Given the description of an element on the screen output the (x, y) to click on. 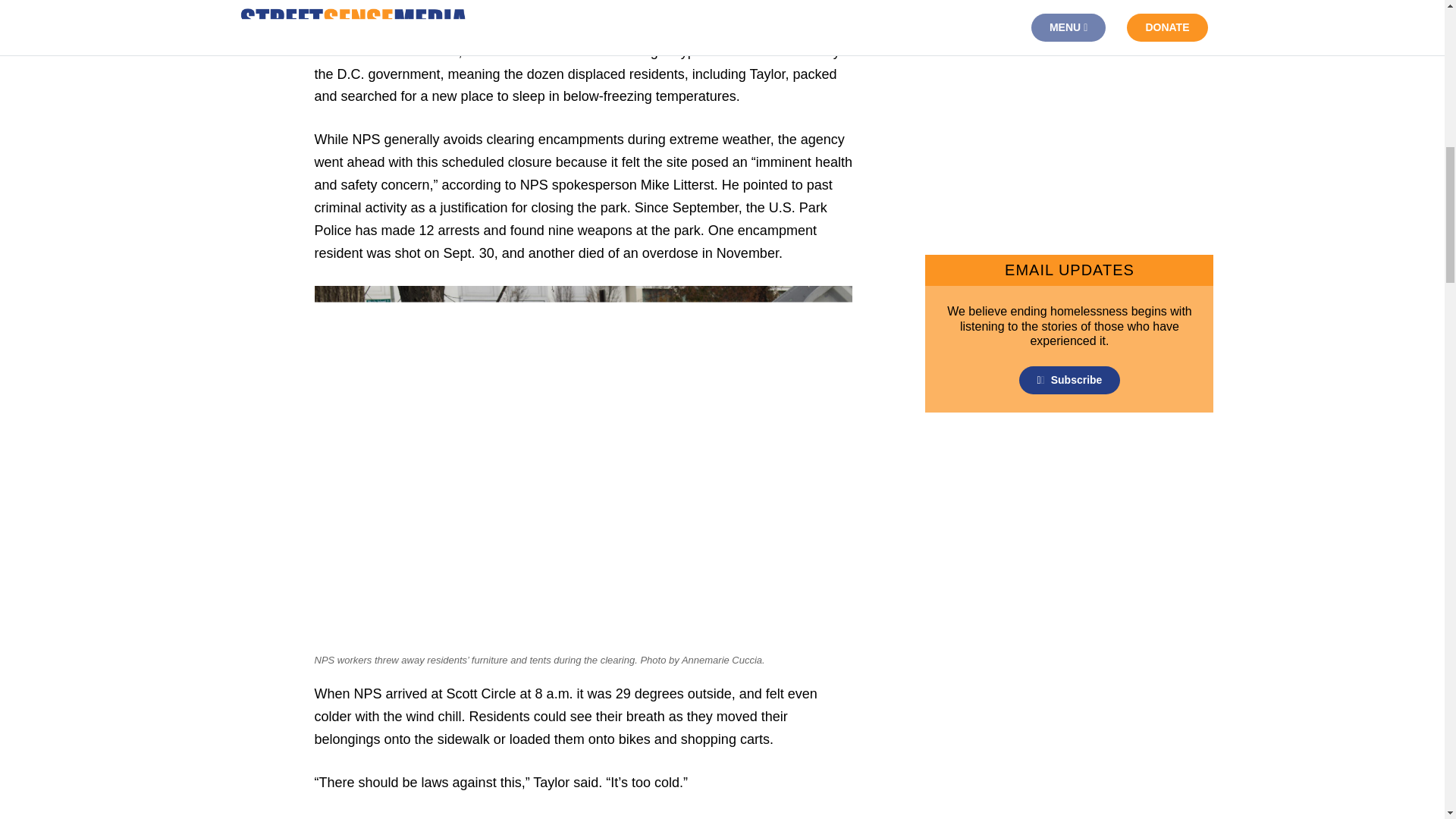
Subscribe (1070, 379)
